Given the description of an element on the screen output the (x, y) to click on. 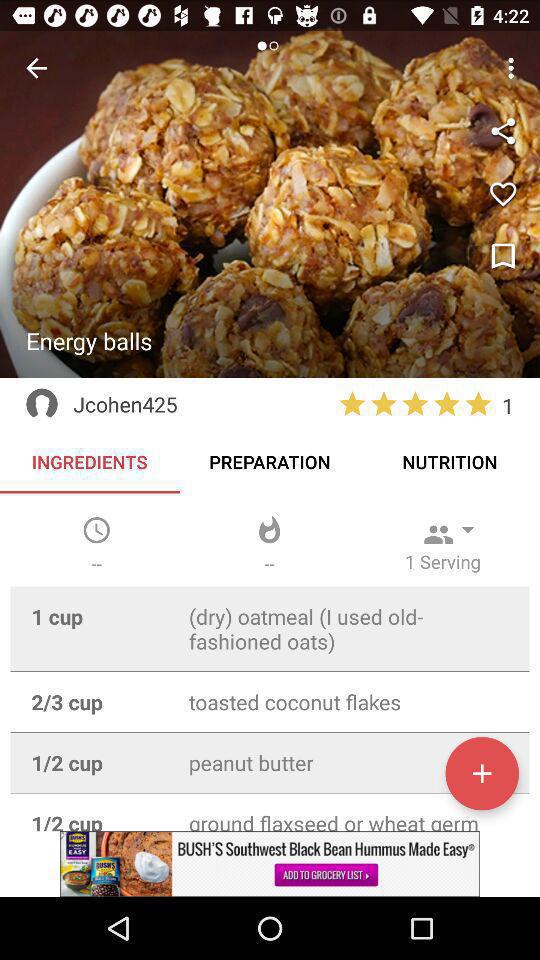
for share (503, 131)
